Given the description of an element on the screen output the (x, y) to click on. 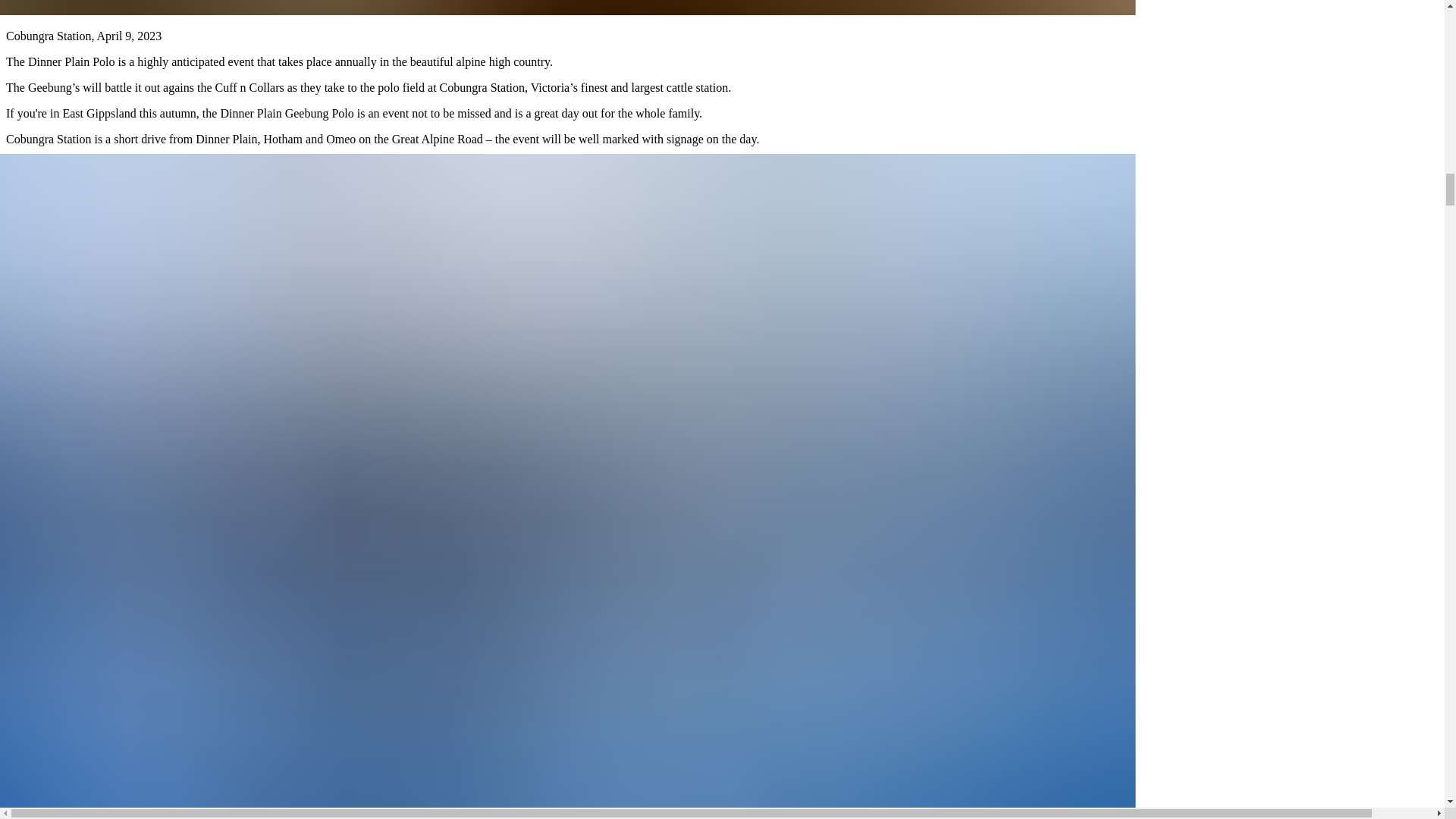
Discover more (41, 164)
